Given the description of an element on the screen output the (x, y) to click on. 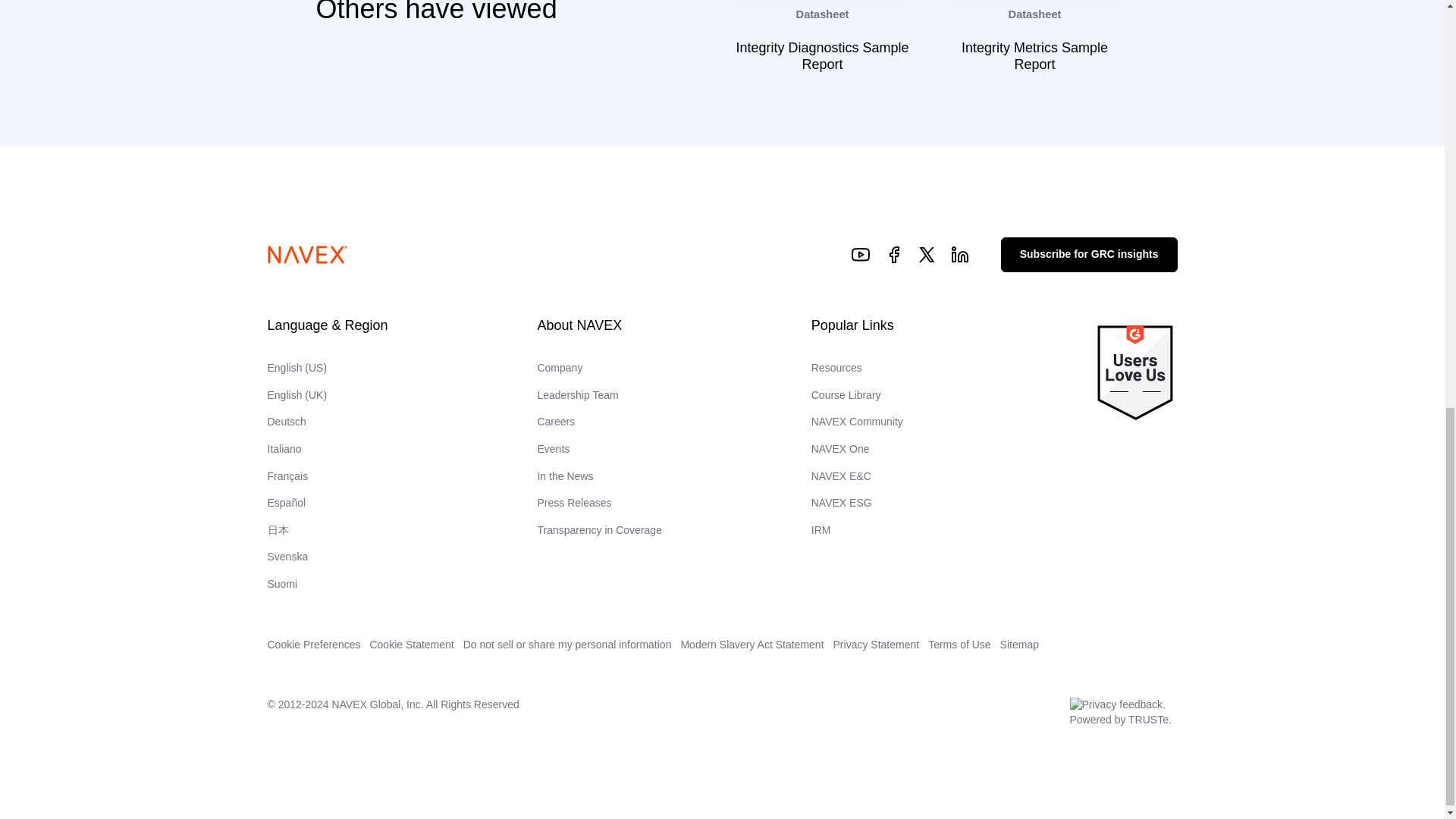
Twitter (927, 254)
Facebook (893, 254)
YouTube (861, 254)
LinkedIn (960, 254)
